Given the description of an element on the screen output the (x, y) to click on. 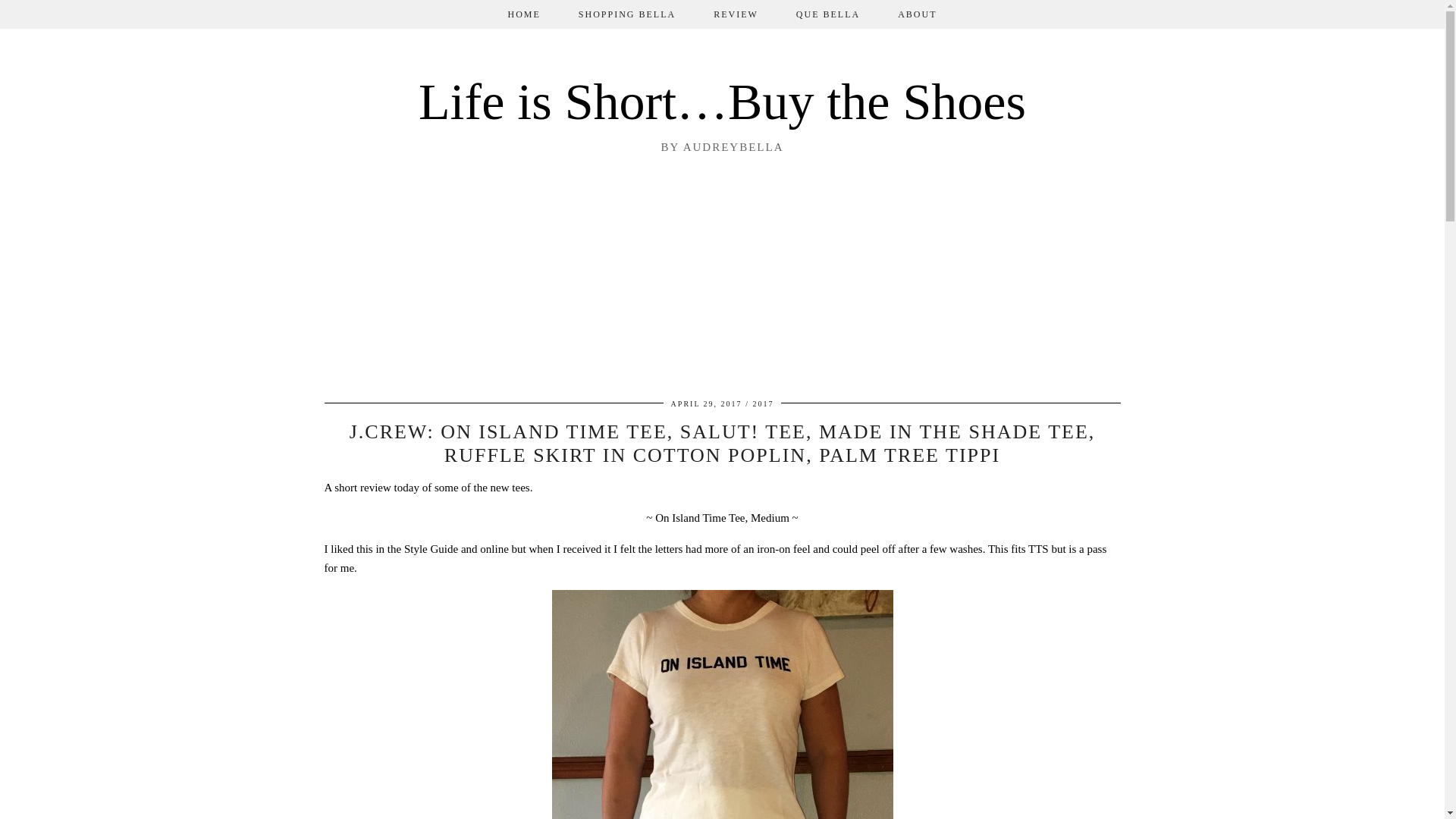
2017 (762, 403)
On Island Time Tee (699, 517)
HOME (523, 14)
ABOUT (917, 14)
QUE BELLA (828, 14)
SHOPPING BELLA (626, 14)
REVIEW (735, 14)
